Given the description of an element on the screen output the (x, y) to click on. 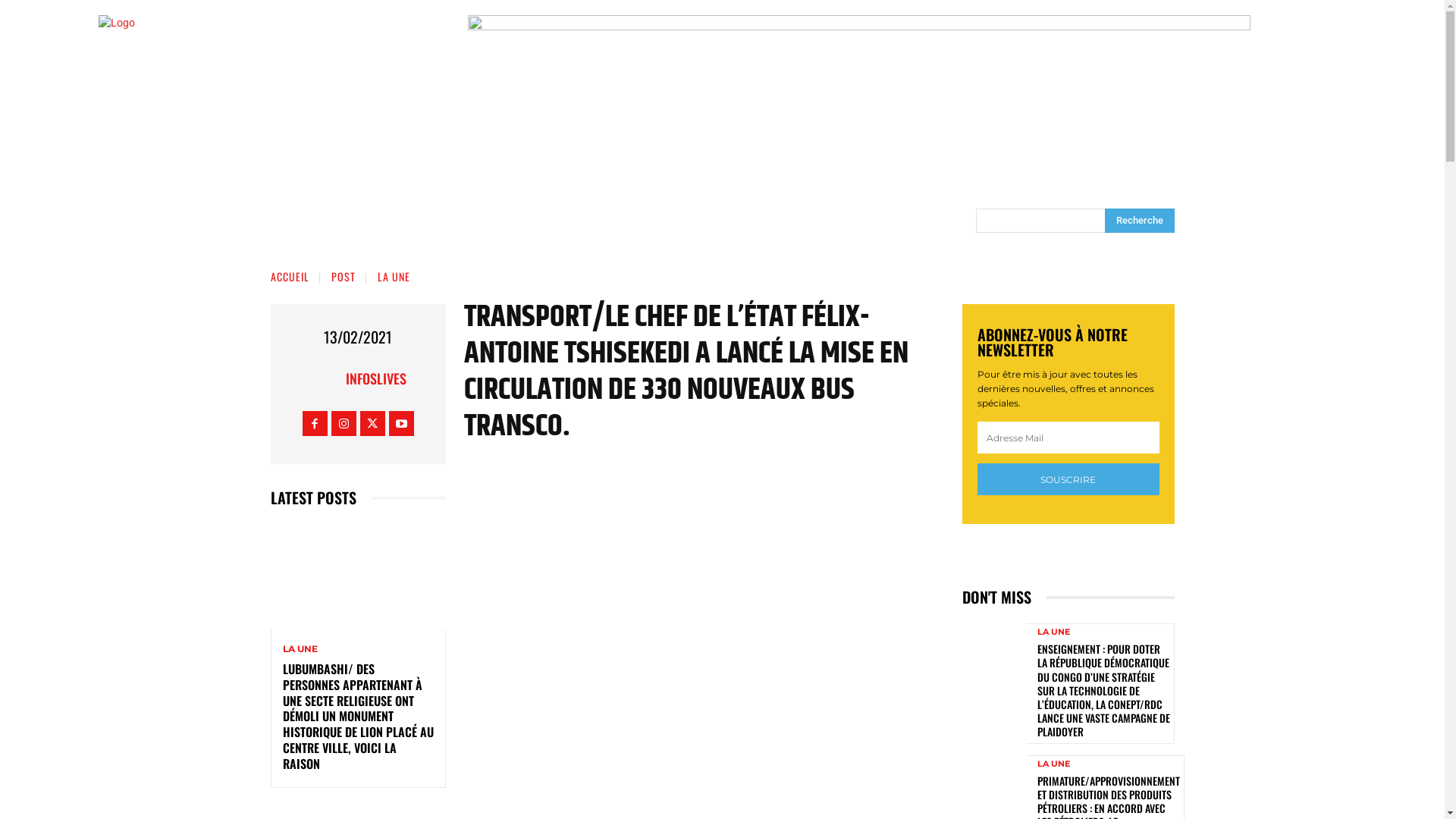
POST Element type: text (342, 276)
Infoslives Element type: hover (326, 378)
Instagram Element type: hover (343, 423)
INFOSLIVES Element type: text (375, 378)
LA UNE Element type: text (393, 276)
ACCUEIL Element type: text (288, 276)
LA UNE Element type: text (299, 648)
Recherche Element type: text (1138, 220)
SOUSCRIRE Element type: text (1067, 479)
LA UNE Element type: text (1053, 631)
Facebook Element type: hover (314, 423)
pub3 Element type: hover (858, 86)
Twitter Element type: hover (372, 423)
Youtube Element type: hover (401, 423)
LA UNE Element type: text (1053, 763)
